Given the description of an element on the screen output the (x, y) to click on. 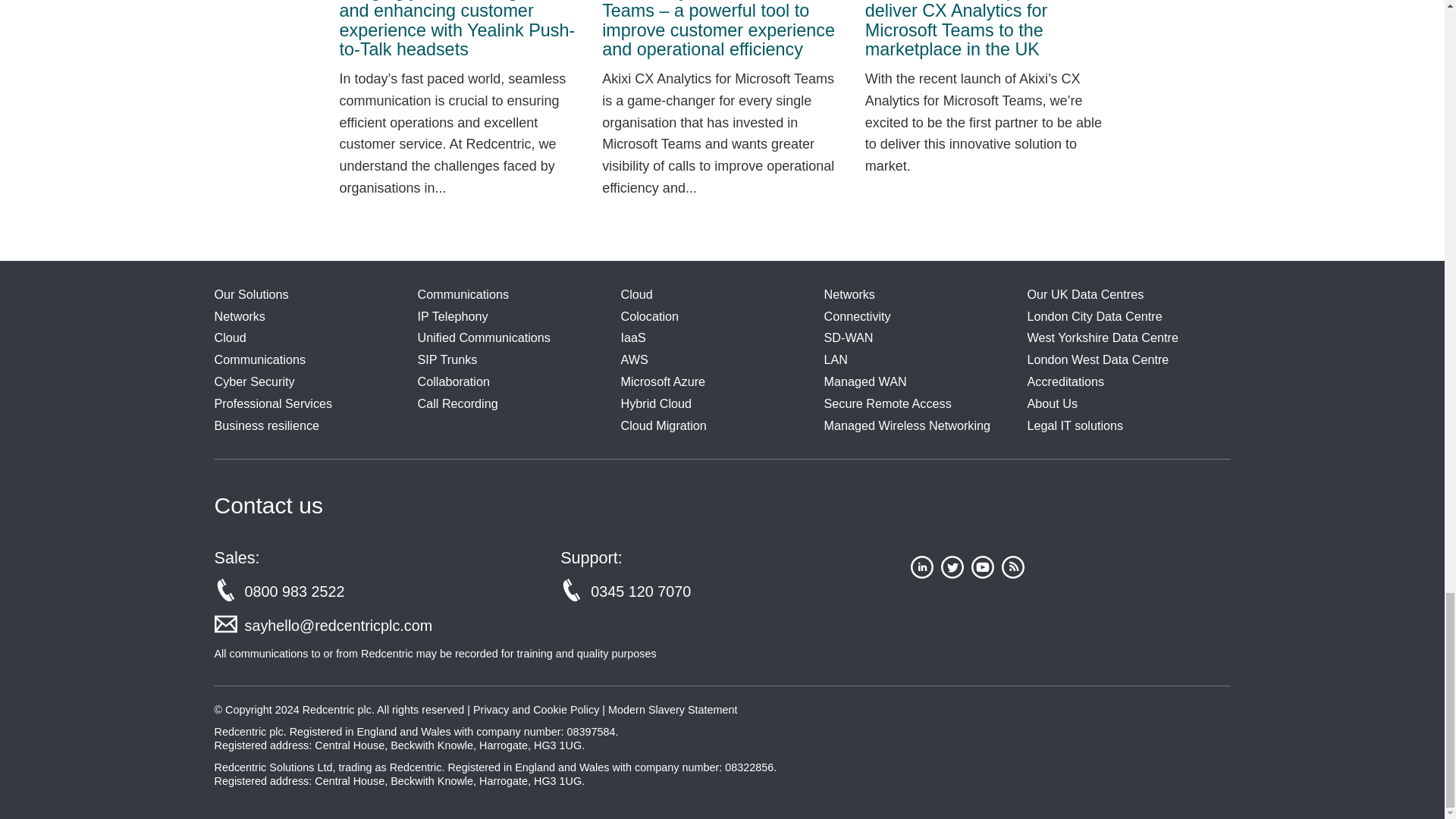
twitter (951, 573)
rss (1013, 573)
youtube (982, 573)
linkedin (922, 573)
